Given the description of an element on the screen output the (x, y) to click on. 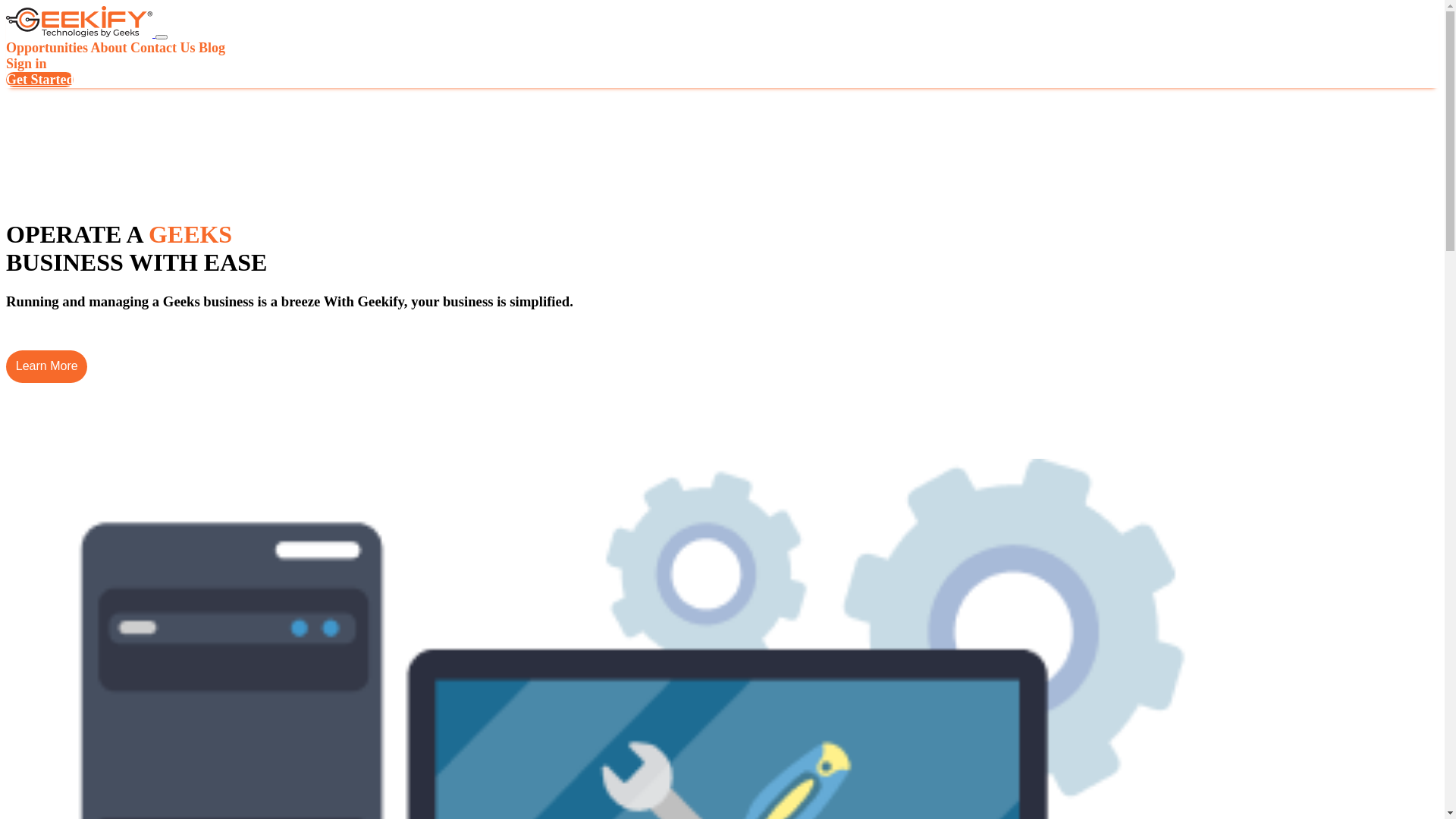
Learn More Element type: text (46, 366)
Blog Element type: text (211, 47)
Sign in Element type: text (26, 63)
Contact Us Element type: text (162, 47)
About Element type: text (109, 47)
Opportunities Element type: text (46, 47)
Get Started Element type: text (39, 79)
